Given the description of an element on the screen output the (x, y) to click on. 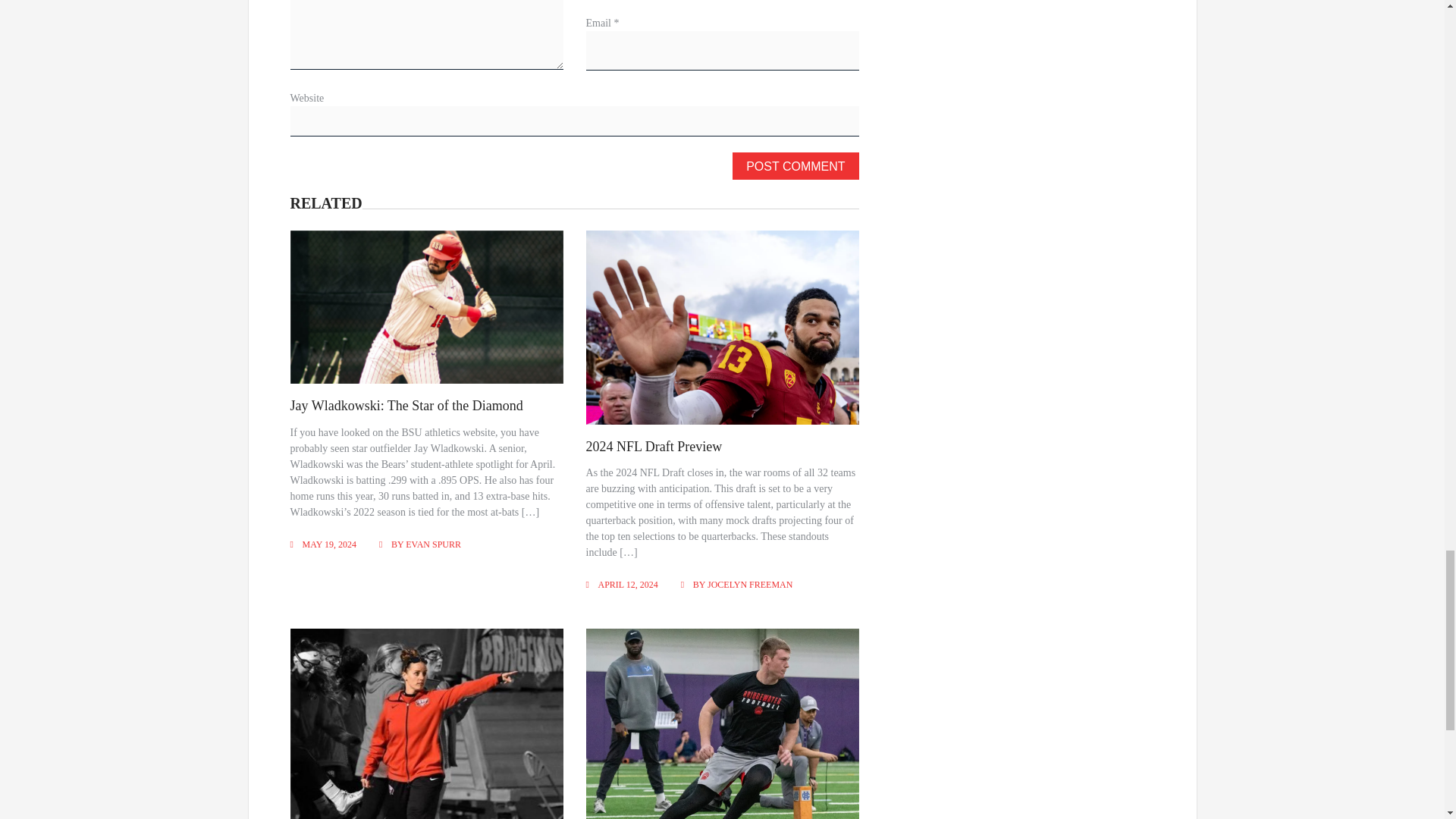
Post Comment (795, 165)
APRIL 12, 2024 (628, 584)
2024 NFL Draft Preview (654, 446)
Jay Wladkowski: The Star of the Diamond (405, 405)
MAY 19, 2024 (328, 543)
Post Comment (795, 165)
EVAN SPURR (433, 543)
